Given the description of an element on the screen output the (x, y) to click on. 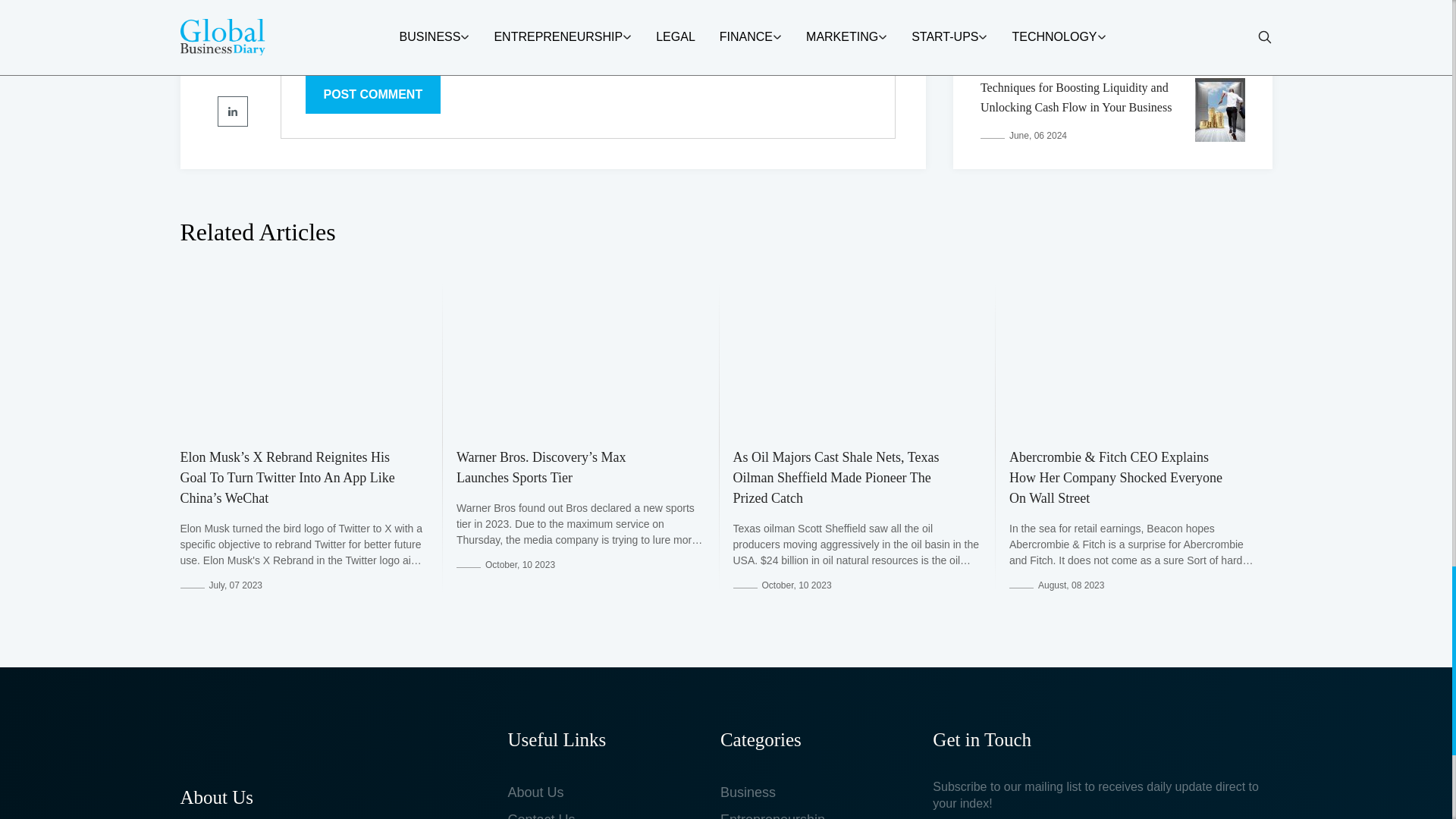
yes (309, 40)
Post Comment (372, 94)
